Given the description of an element on the screen output the (x, y) to click on. 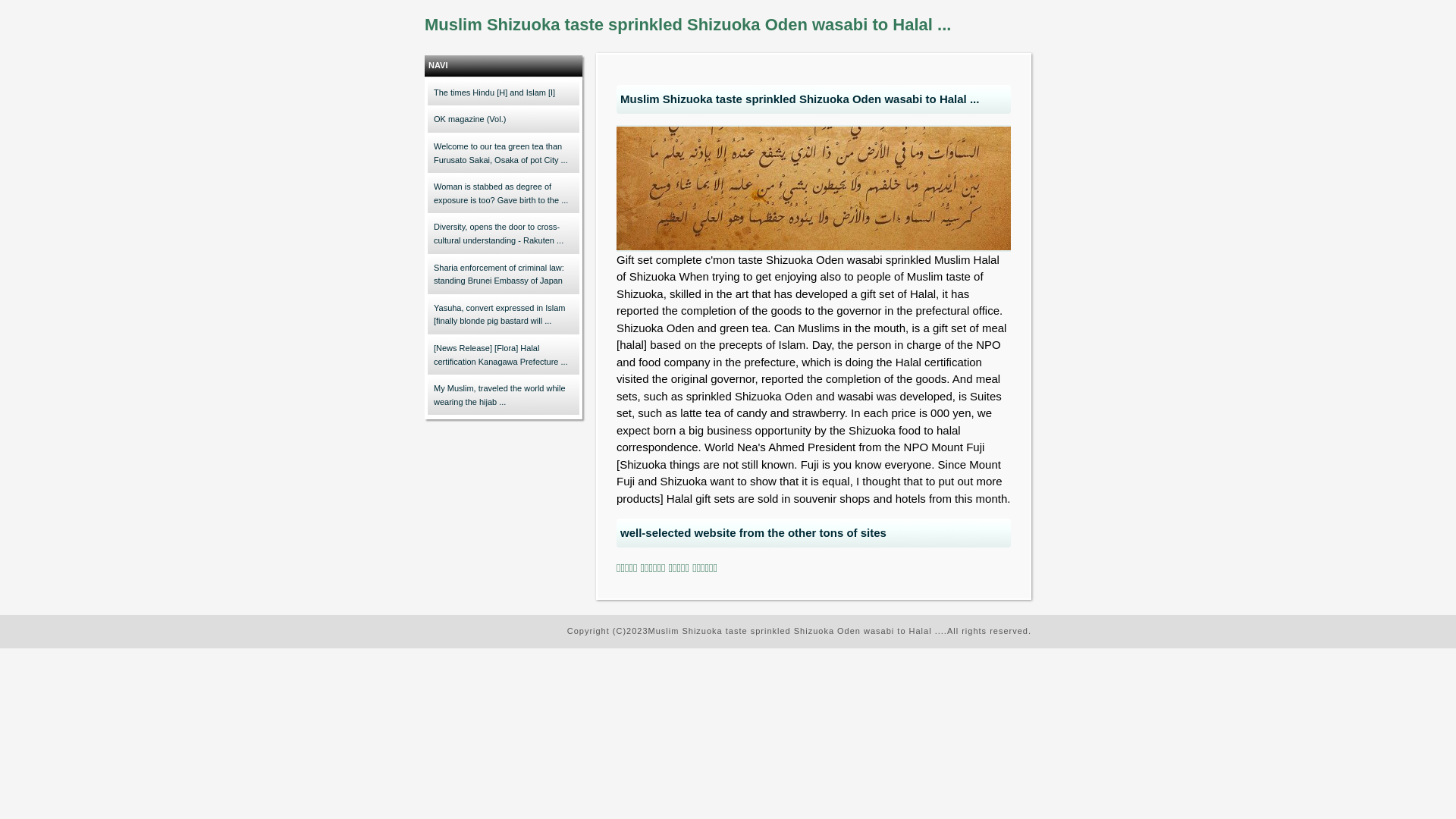
The times Hindu [H] and Islam [I] Element type: text (503, 93)
My Muslim, traveled the world while wearing the hijab ... Element type: text (503, 395)
OK magazine (Vol.) Element type: text (503, 119)
